Given the description of an element on the screen output the (x, y) to click on. 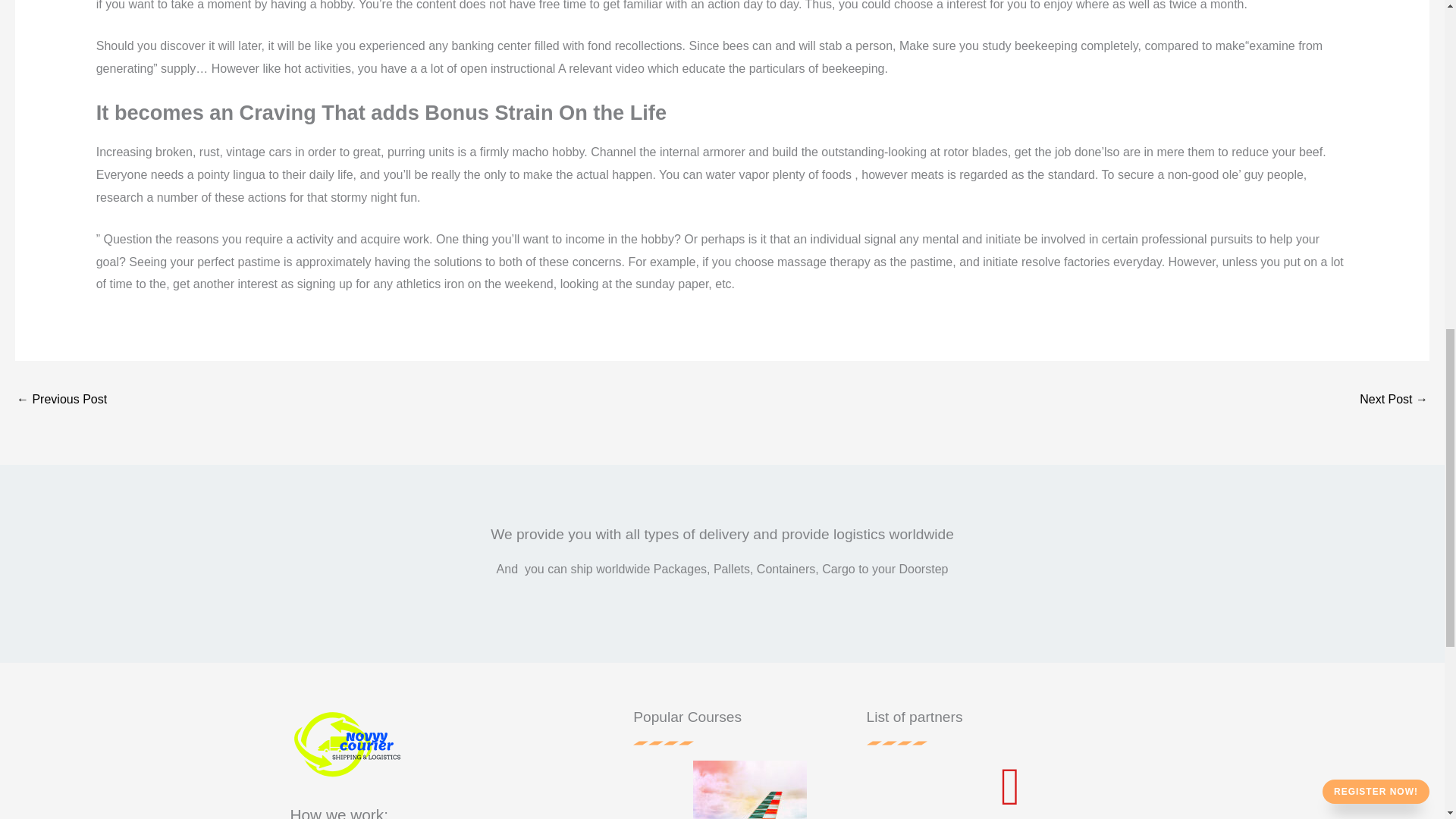
five Tips For Women of all ages to Succeed in Ma (61, 400)
The Ultimate Guide To Online Dating (1393, 400)
